Given the description of an element on the screen output the (x, y) to click on. 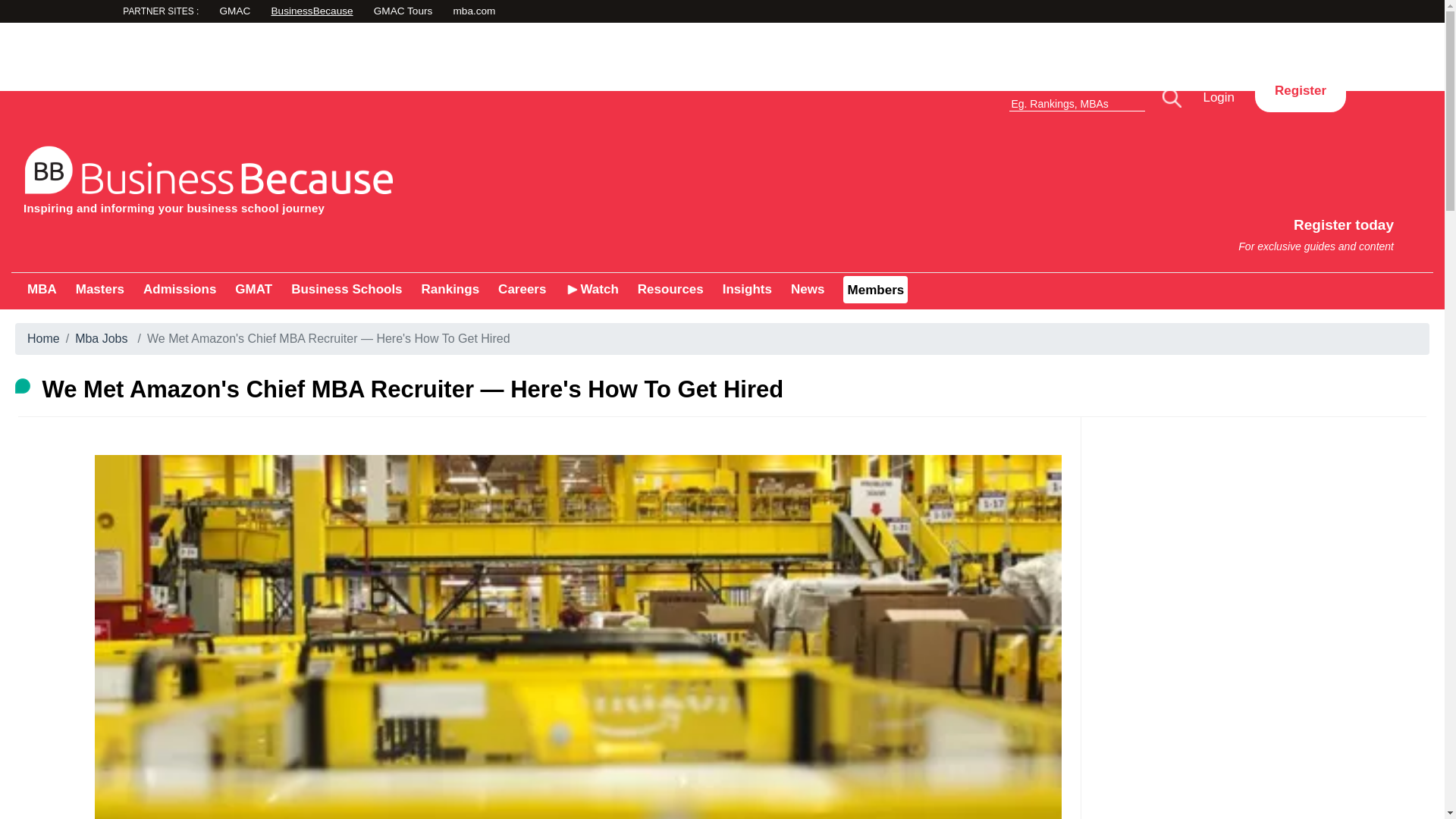
Register (1300, 90)
mba.com (558, 12)
Inspiring and informing your business school journey (1089, 227)
Masters (367, 176)
MBA (99, 288)
GMAC Tours (41, 288)
3rd party ad content (474, 12)
PARTNER SITES : (721, 56)
Rankings (189, 12)
